Given the description of an element on the screen output the (x, y) to click on. 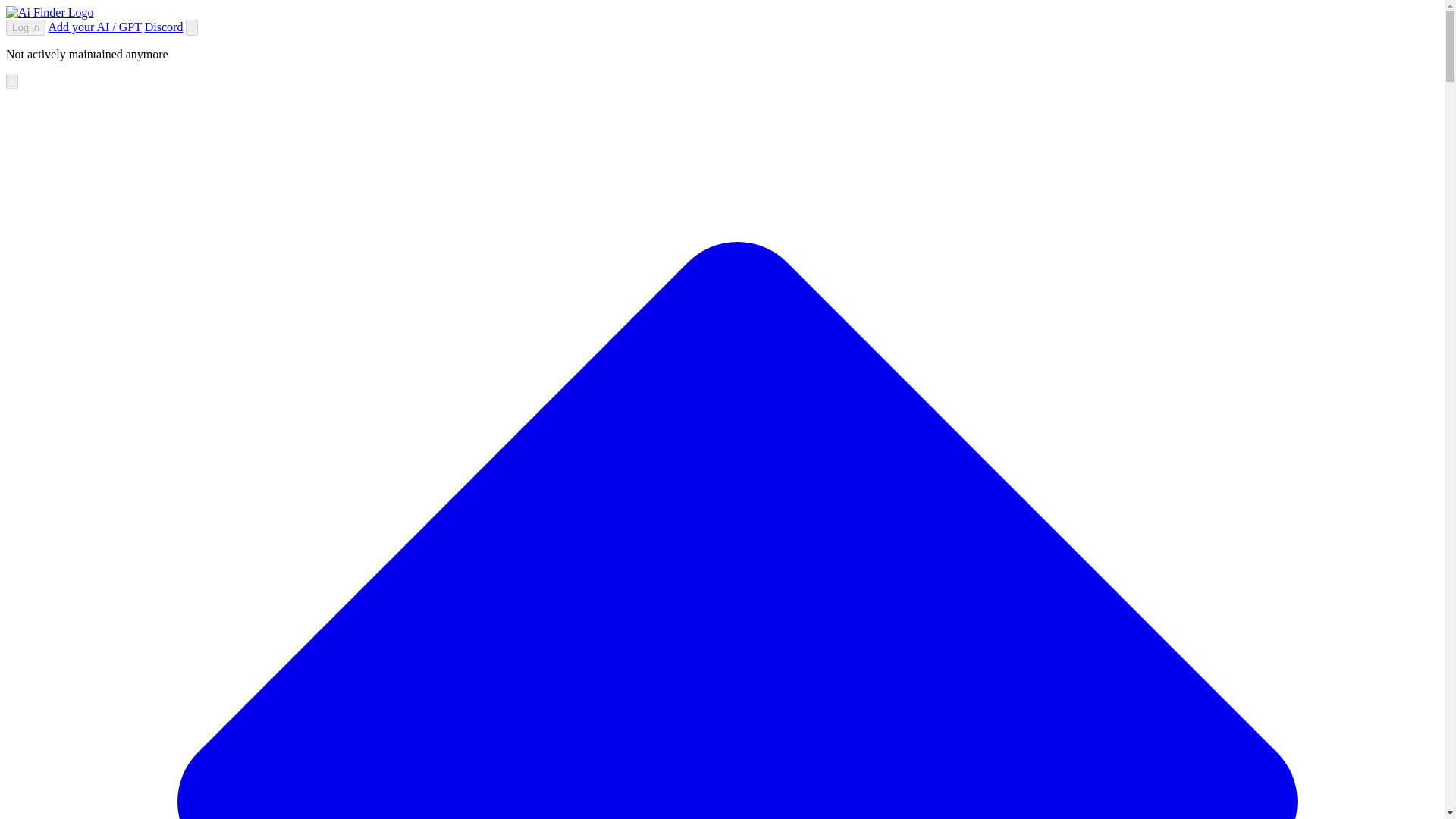
Discord (163, 26)
Log in (25, 27)
